Given the description of an element on the screen output the (x, y) to click on. 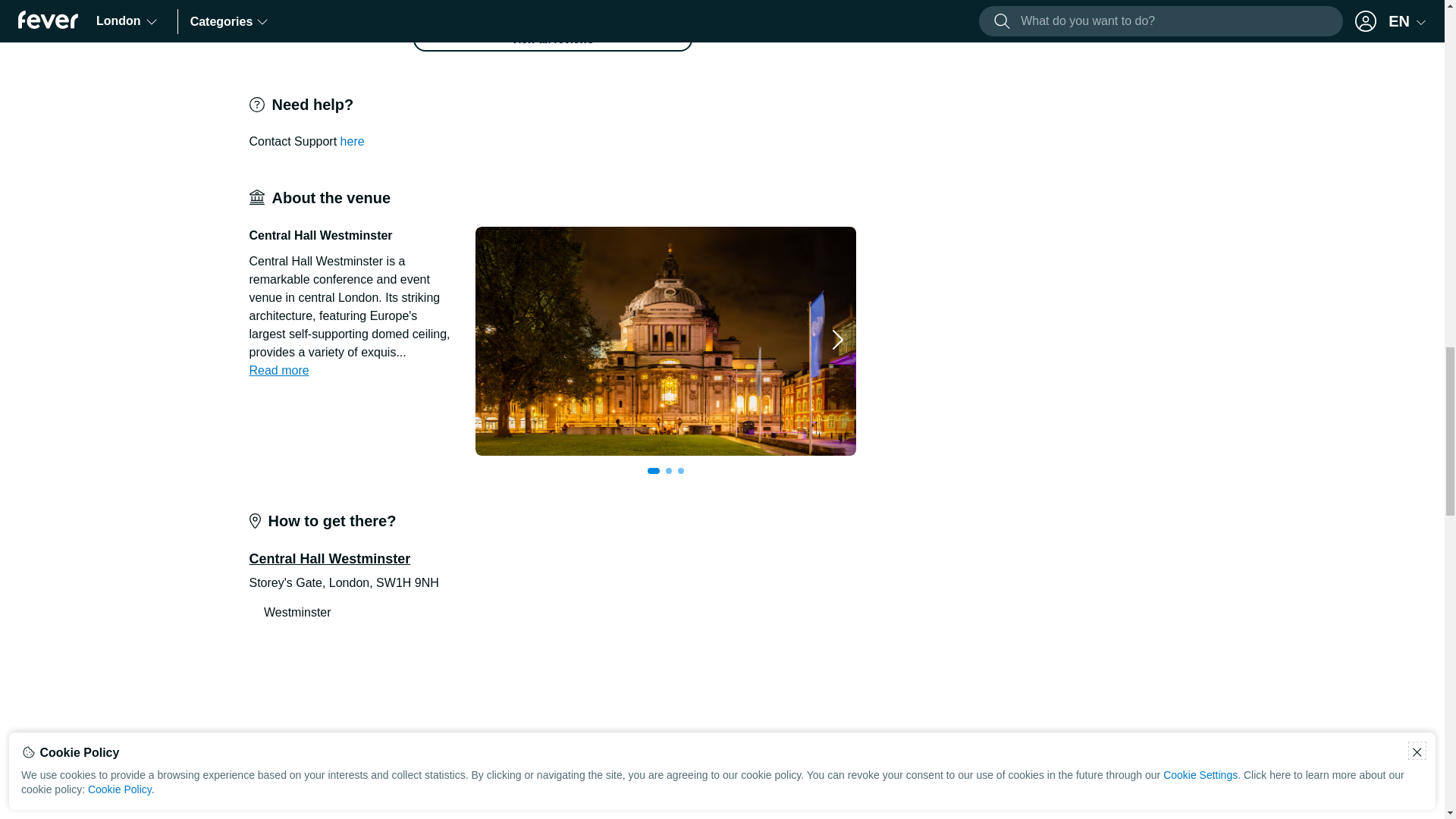
Central Hall Westminster (1045, 341)
Central Hall Westminster (666, 341)
